Given the description of an element on the screen output the (x, y) to click on. 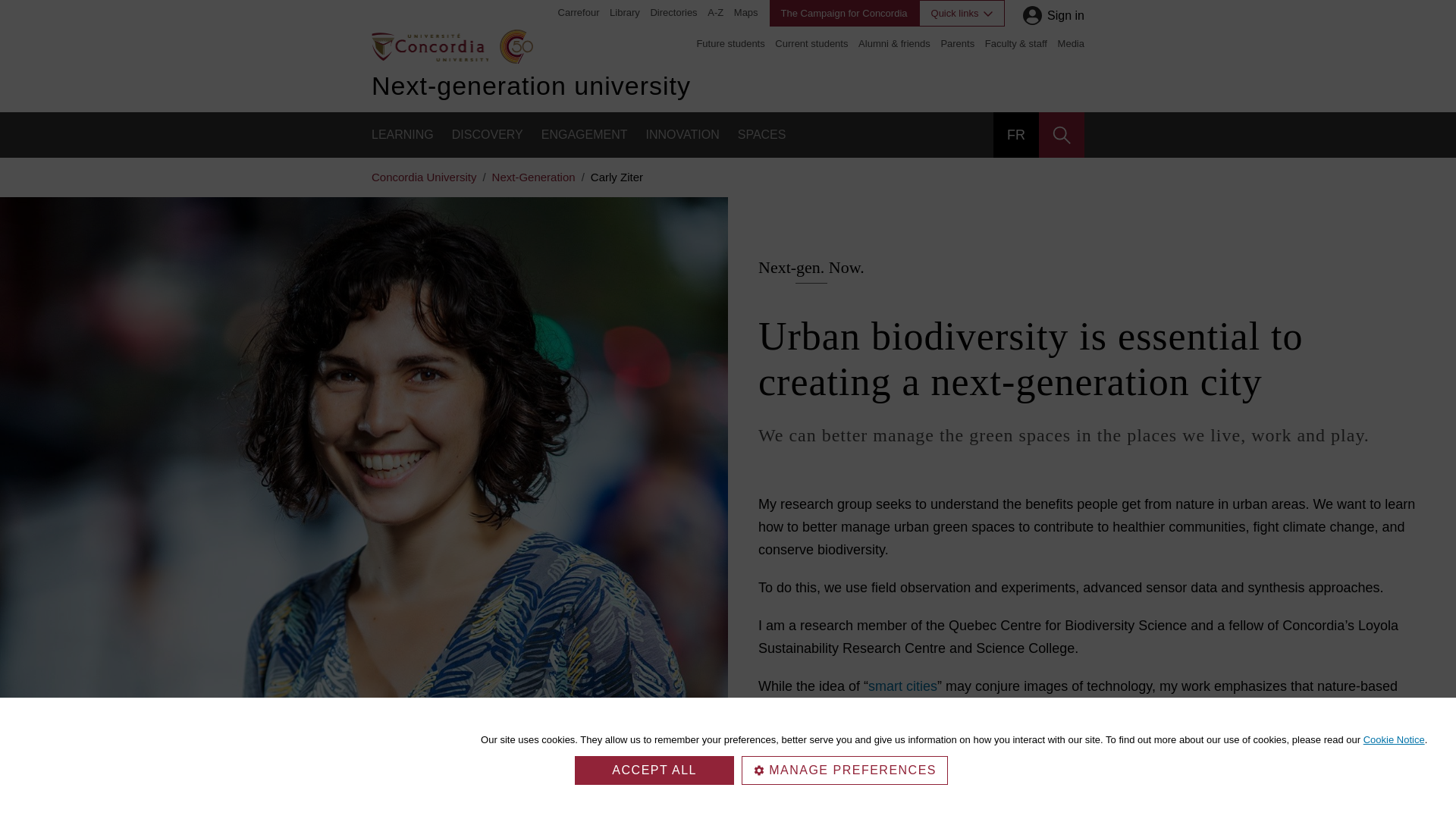
MANAGE PREFERENCES (844, 769)
Carrefour (578, 12)
ACCEPT ALL (654, 769)
Back to home (429, 45)
Library (625, 12)
Cookie Notice (1393, 739)
